Given the description of an element on the screen output the (x, y) to click on. 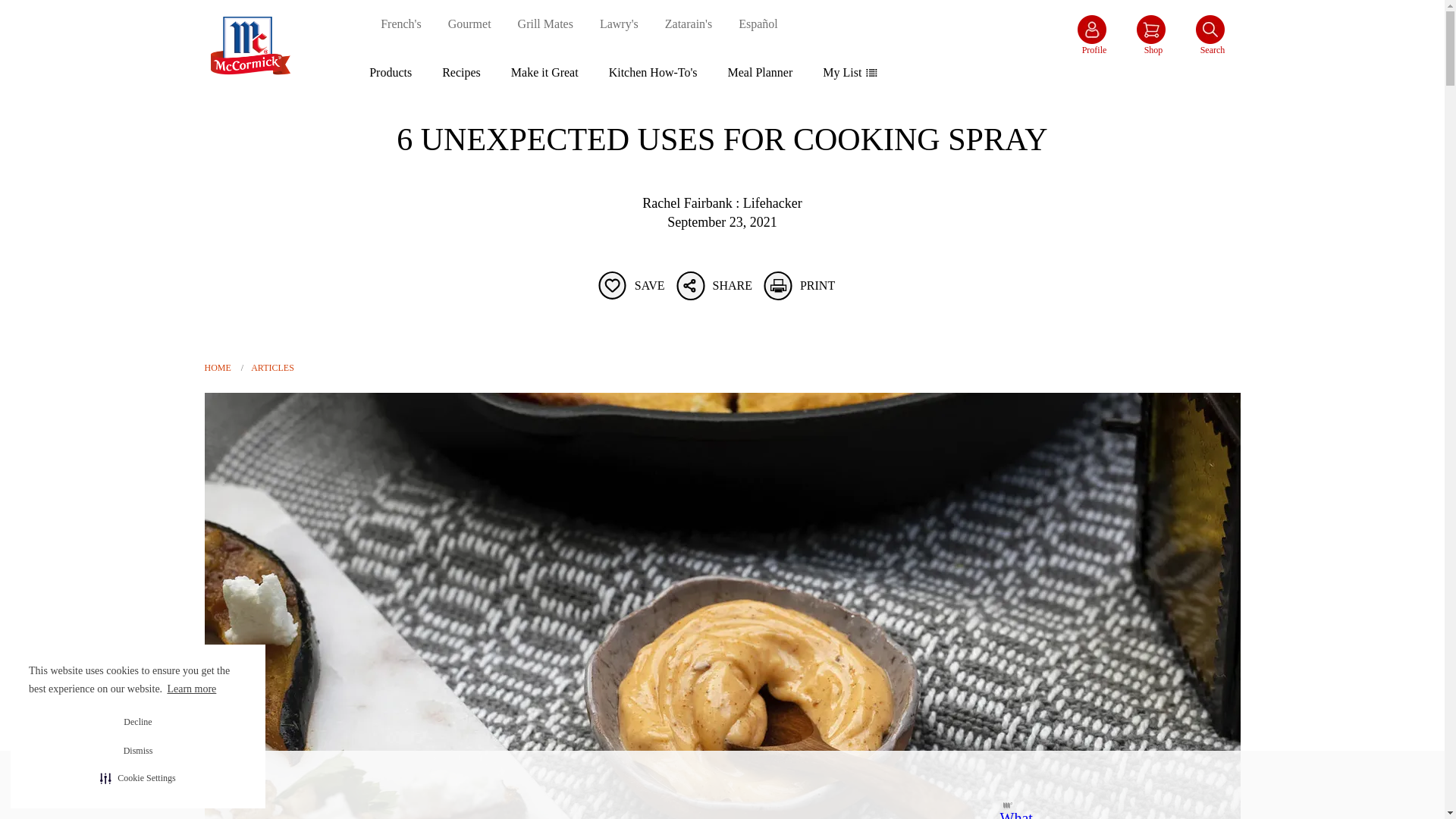
Dismiss (138, 750)
Logo (250, 85)
Gourmet (470, 24)
Cookie Settings (137, 777)
Decline (138, 721)
Zatarain's (688, 24)
Grill Mates (545, 24)
Learn more (192, 688)
